Given the description of an element on the screen output the (x, y) to click on. 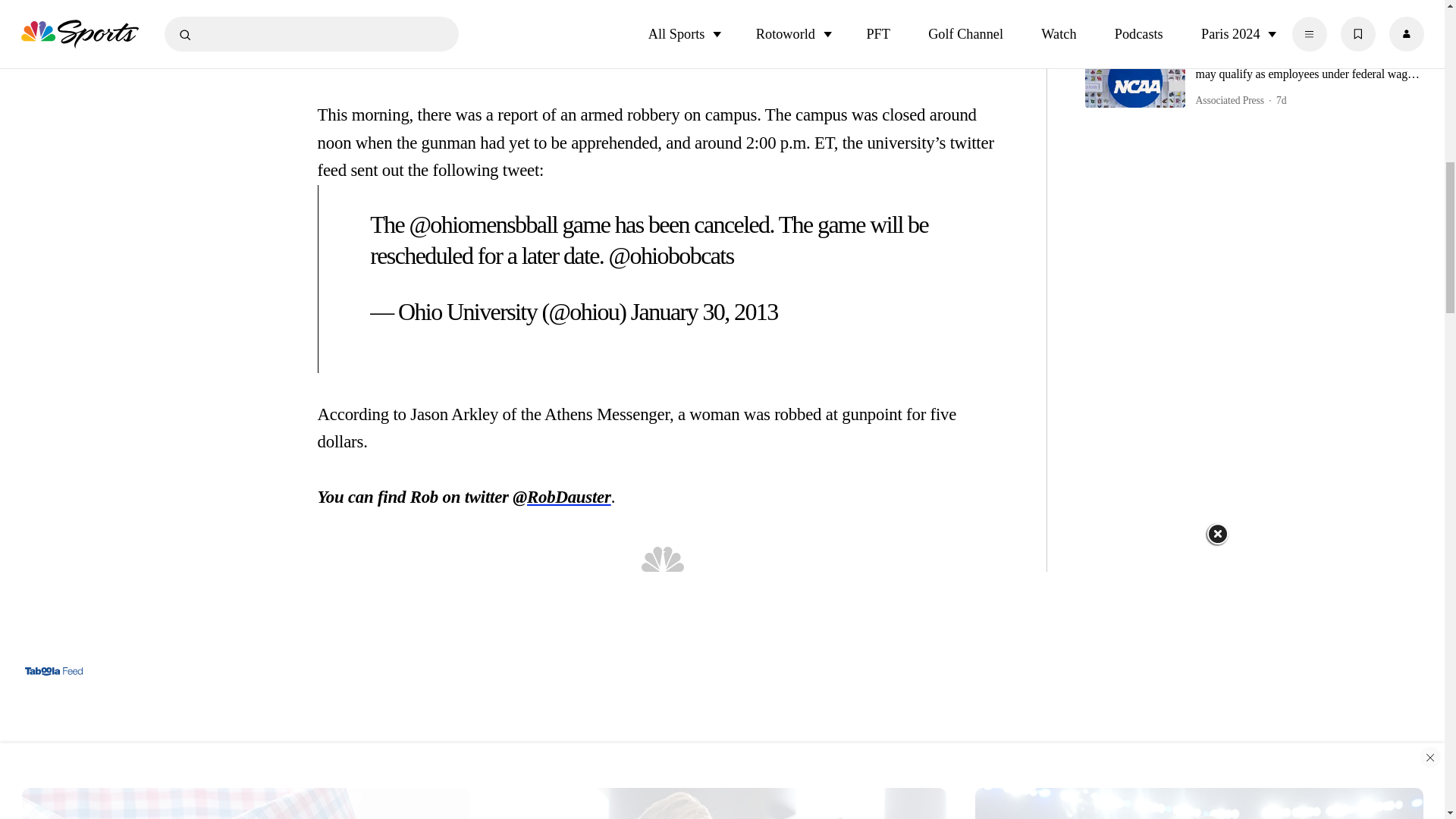
Smart Size will change how you shop (245, 798)
